Given the description of an element on the screen output the (x, y) to click on. 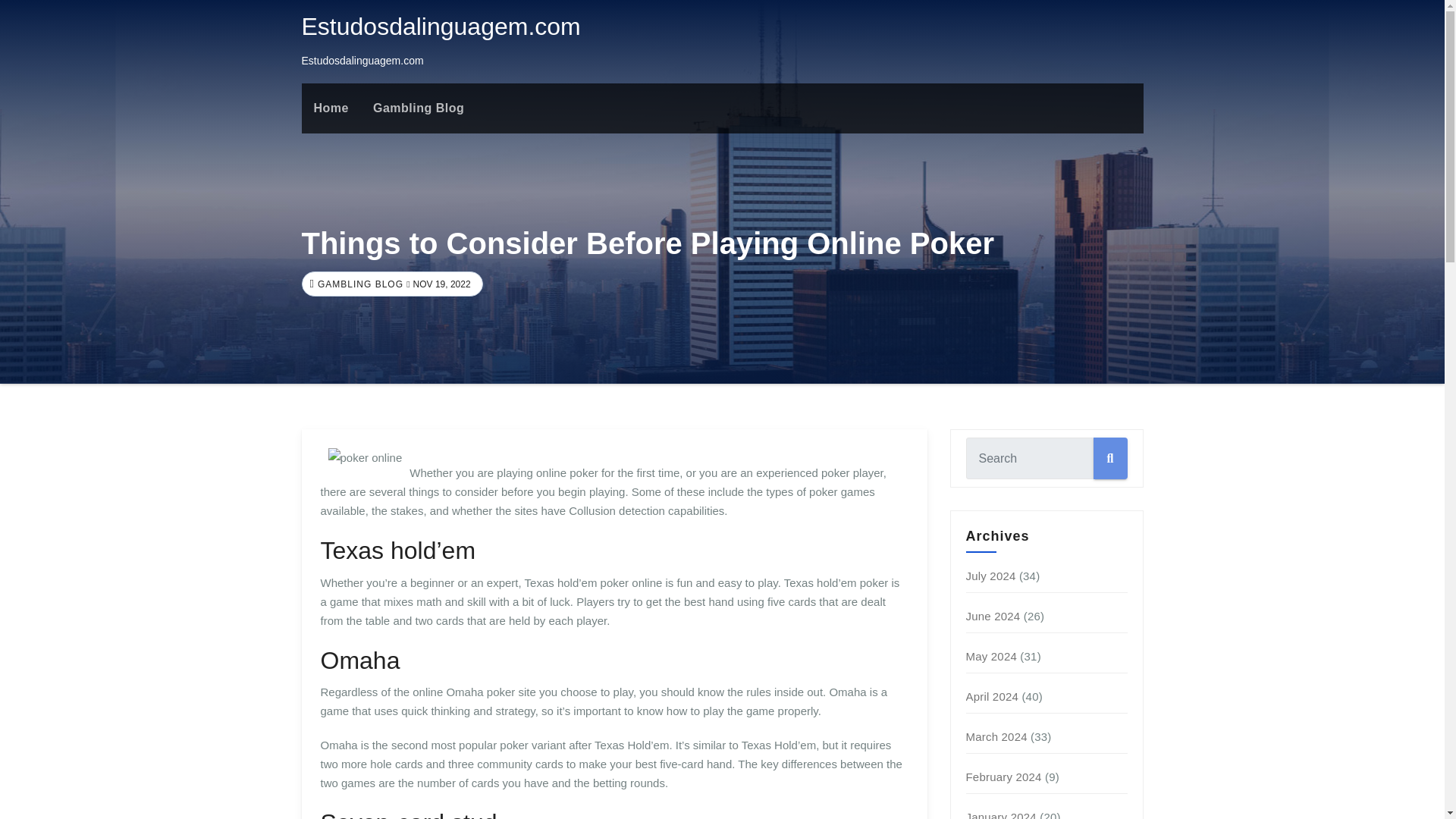
Gambling Blog (418, 108)
June 2024 (993, 615)
Estudosdalinguagem.com (440, 26)
Home (331, 108)
Home (331, 108)
GAMBLING BLOG (358, 284)
April 2024 (992, 696)
May 2024 (991, 656)
Gambling Blog (418, 108)
March 2024 (996, 736)
January 2024 (1001, 814)
July 2024 (991, 575)
February 2024 (1004, 776)
